Given the description of an element on the screen output the (x, y) to click on. 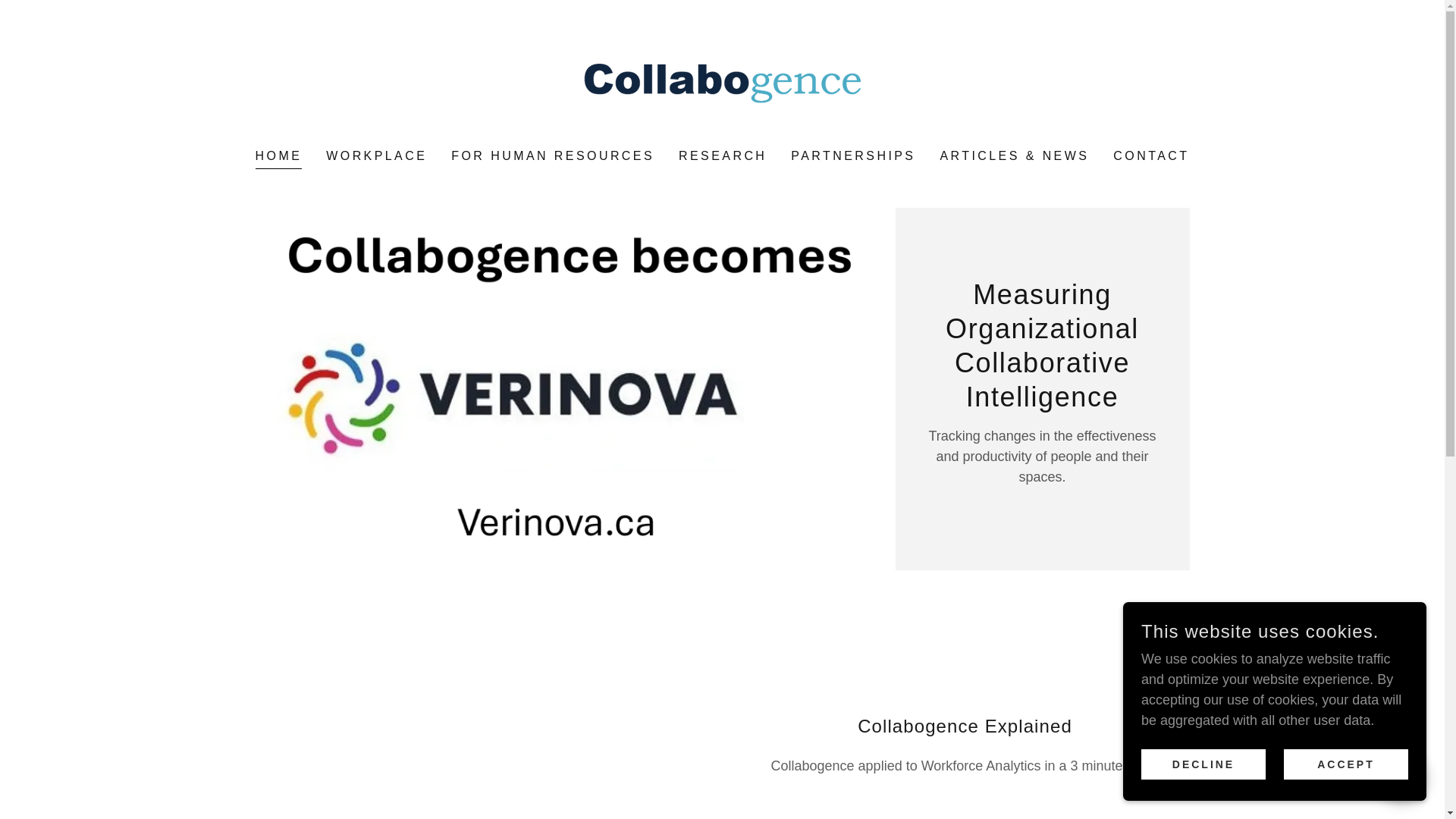
CONTACT (1150, 155)
DECLINE (1203, 764)
PARTNERSHIPS (853, 155)
RESEARCH (722, 155)
ACCEPT (1345, 764)
FOR HUMAN RESOURCES (552, 155)
WORKPLACE (375, 155)
HOME (279, 157)
